Given the description of an element on the screen output the (x, y) to click on. 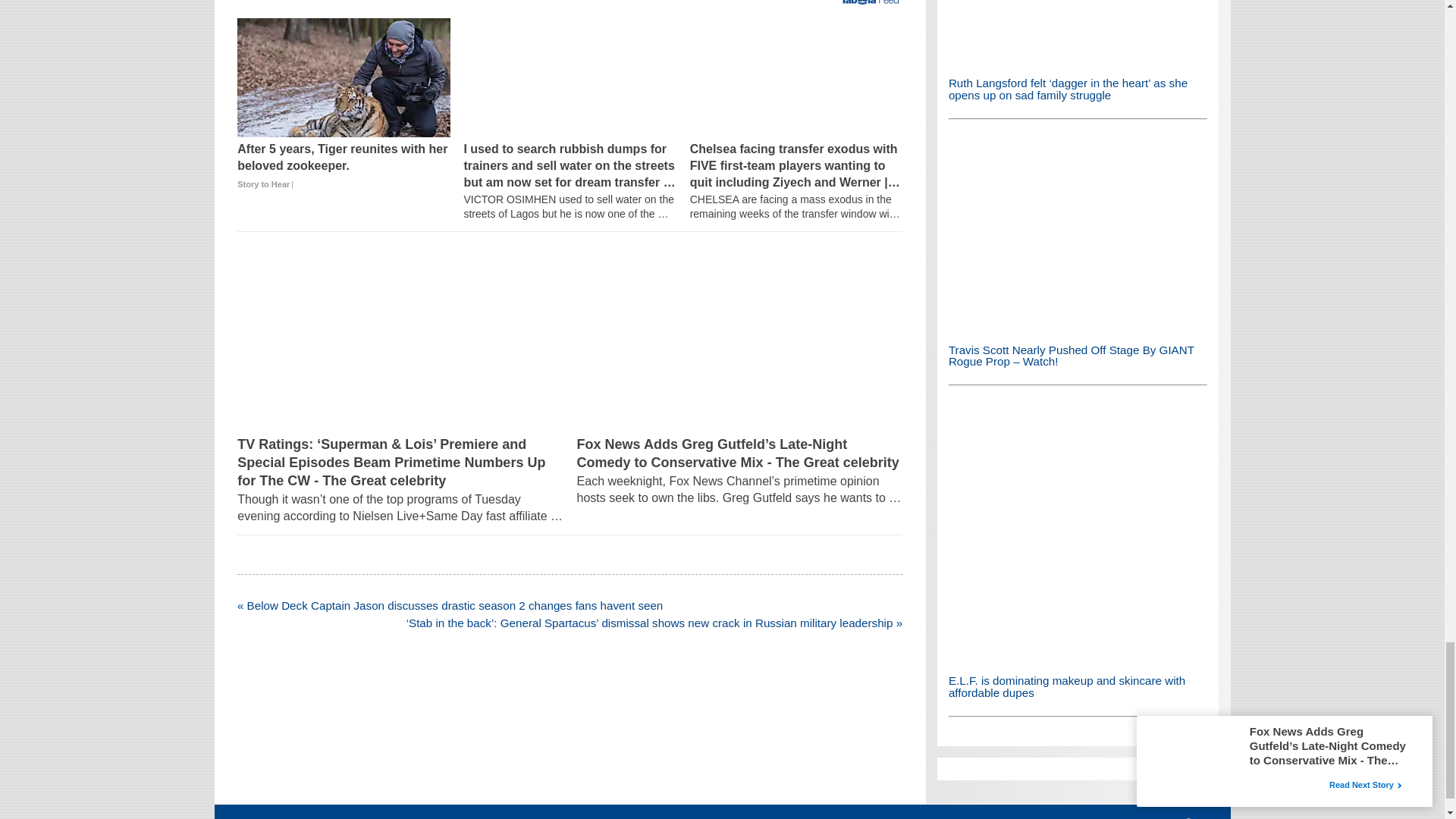
After 5 years, Tiger reunites with her beloved zookeeper. (343, 78)
After 5 years, Tiger reunites with her beloved zookeeper. (343, 166)
